Given the description of an element on the screen output the (x, y) to click on. 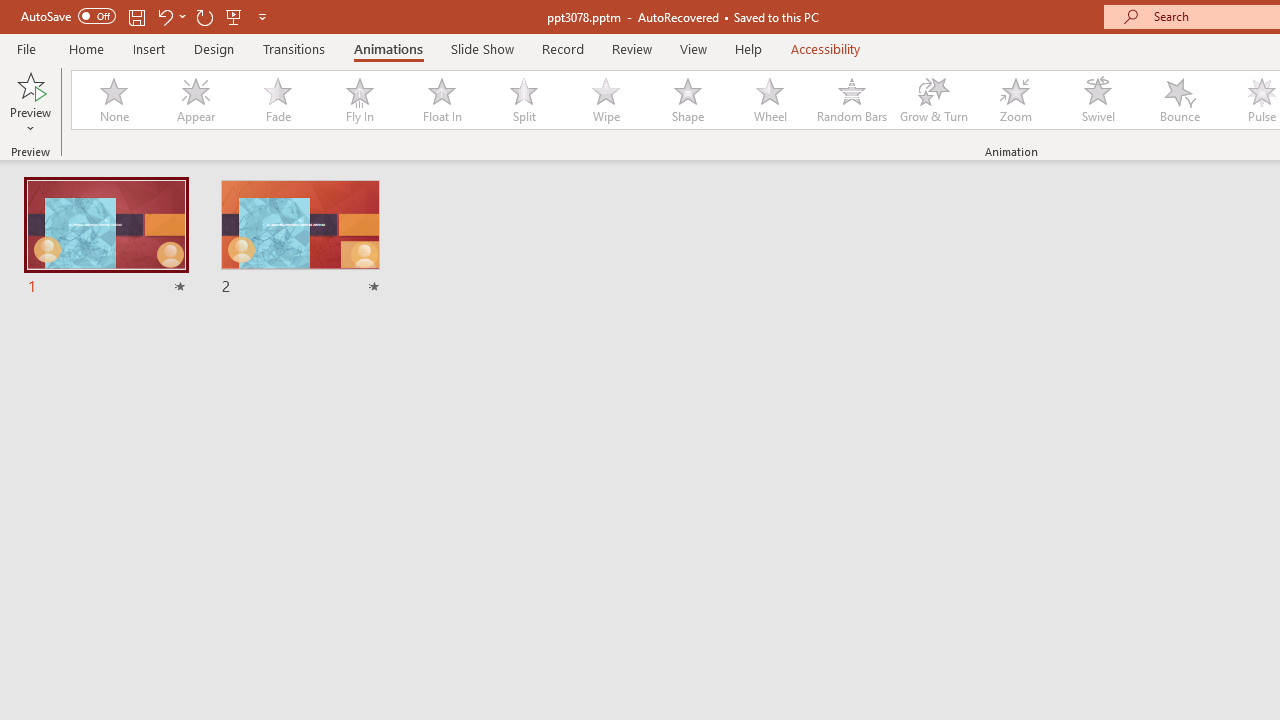
Shape (687, 100)
Fade (277, 100)
Fly In (359, 100)
None (113, 100)
Split (523, 100)
Wheel (770, 100)
Grow & Turn (934, 100)
